Given the description of an element on the screen output the (x, y) to click on. 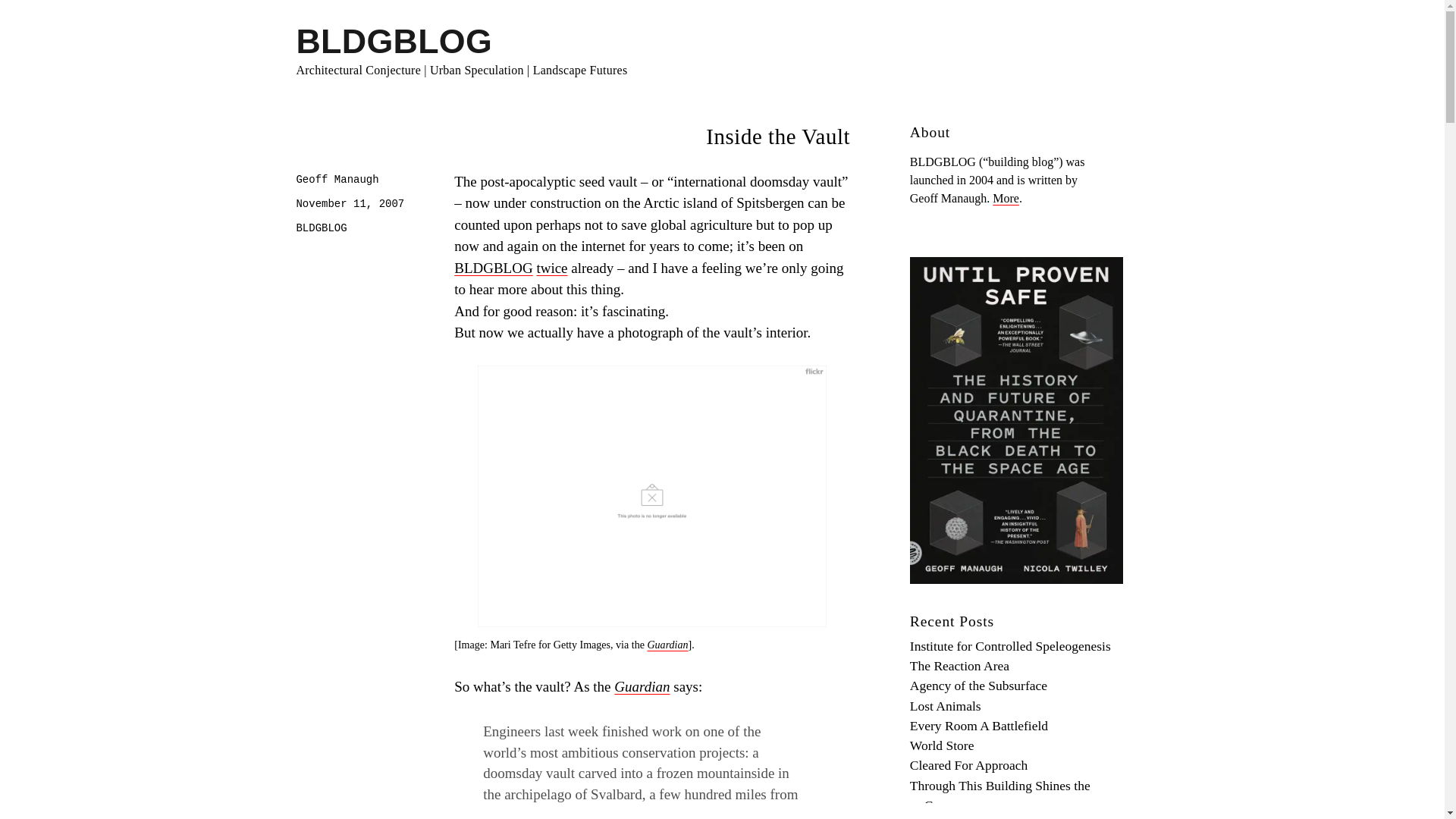
BLDGBLOG (320, 227)
twice (551, 268)
Guardian (641, 686)
Geoff Manaugh (336, 179)
Guardian (666, 644)
BLDGBLOG (393, 40)
BLDGBLOG (493, 268)
November 11, 2007 (349, 203)
